Given the description of an element on the screen output the (x, y) to click on. 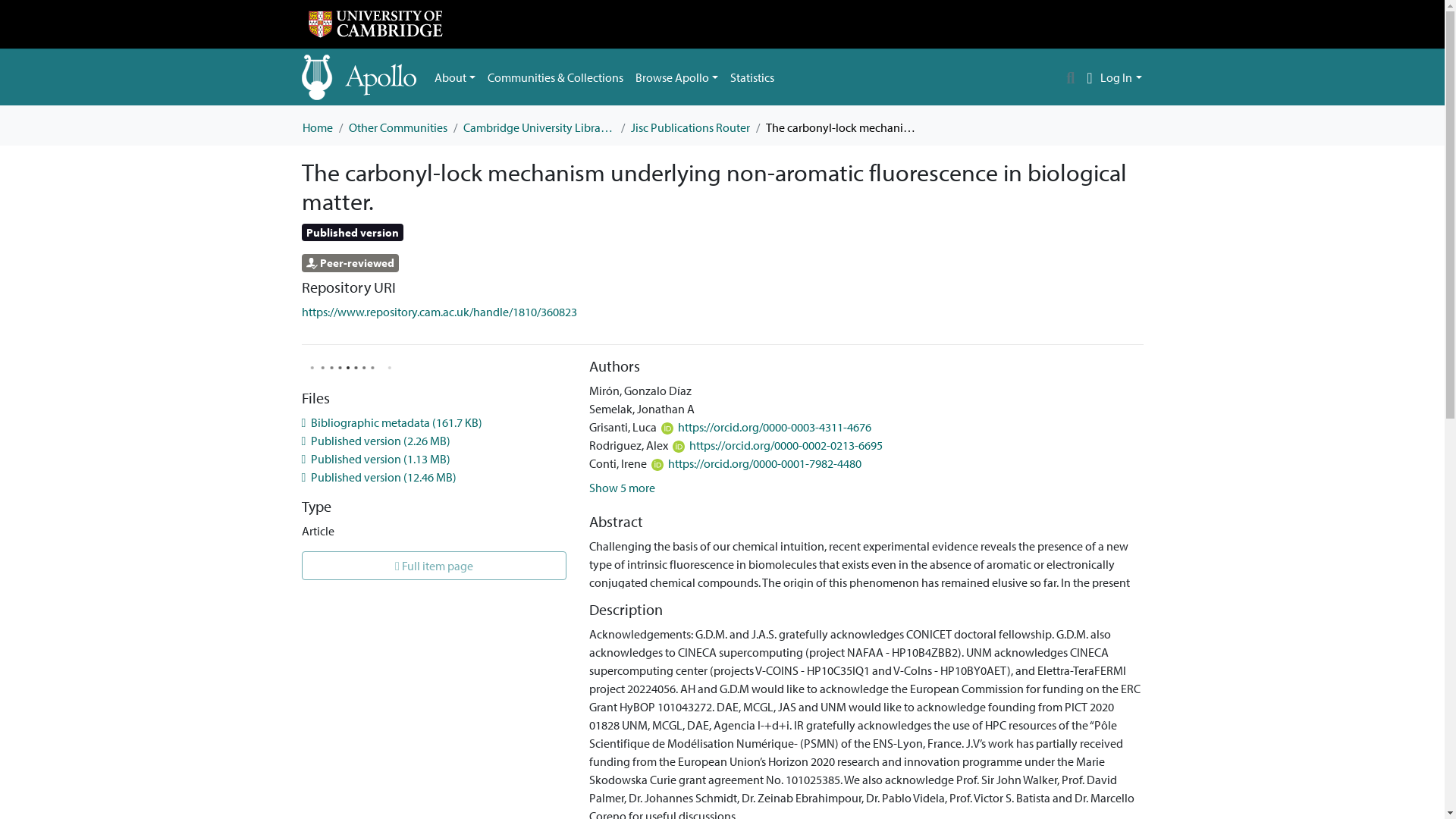
Other Communities (397, 126)
Browse Apollo (675, 77)
About (454, 77)
Log In (1120, 77)
Show 5 more (622, 487)
Statistics (751, 77)
Language switch (1089, 76)
Full item page (434, 565)
Cambridge University Libraries (538, 126)
Home (316, 126)
Jisc Publications Router (689, 126)
Search (1070, 76)
Statistics (751, 77)
